Given the description of an element on the screen output the (x, y) to click on. 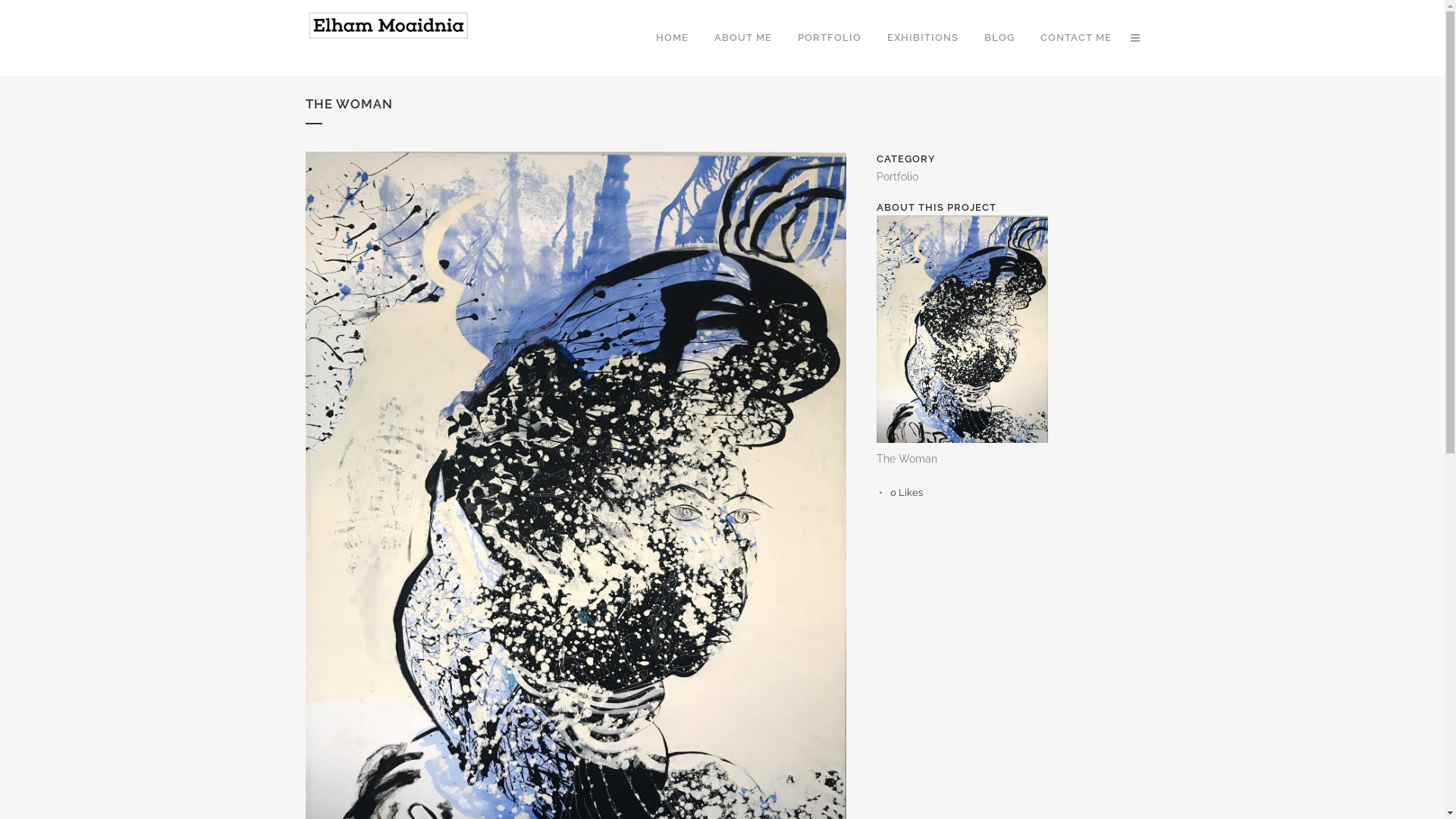
HOME Element type: text (672, 37)
CONTACT ME Element type: text (1074, 37)
EXHIBITIONS Element type: text (921, 37)
BLOG Element type: text (998, 37)
PORTFOLIO Element type: text (828, 37)
ABOUT ME Element type: text (742, 37)
0 Likes Element type: text (906, 492)
